Given the description of an element on the screen output the (x, y) to click on. 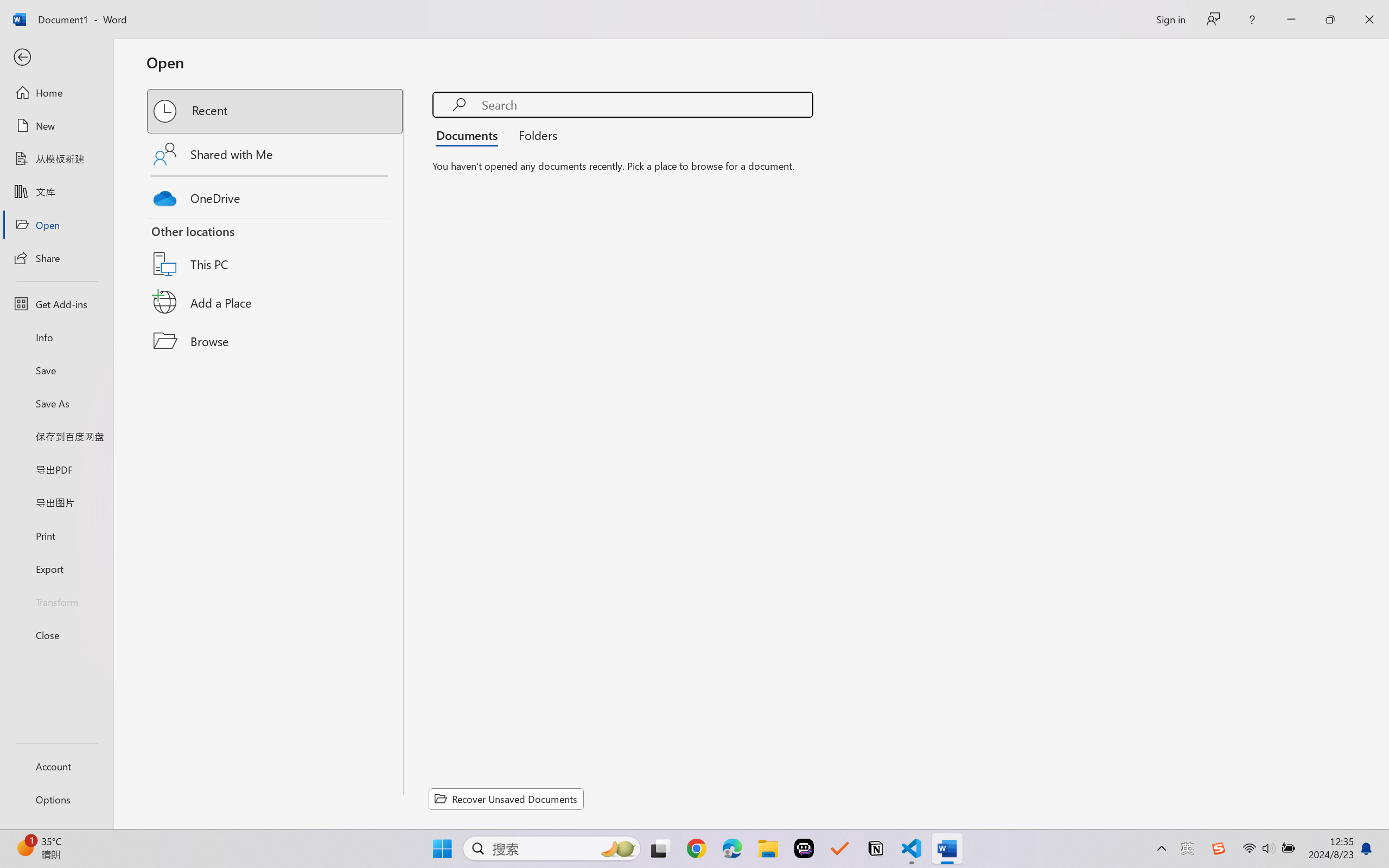
Add a Place (275, 302)
Back (56, 57)
New (56, 125)
Info (56, 337)
Recover Unsaved Documents (506, 798)
Get Add-ins (56, 303)
Export (56, 568)
Options (56, 798)
